Given the description of an element on the screen output the (x, y) to click on. 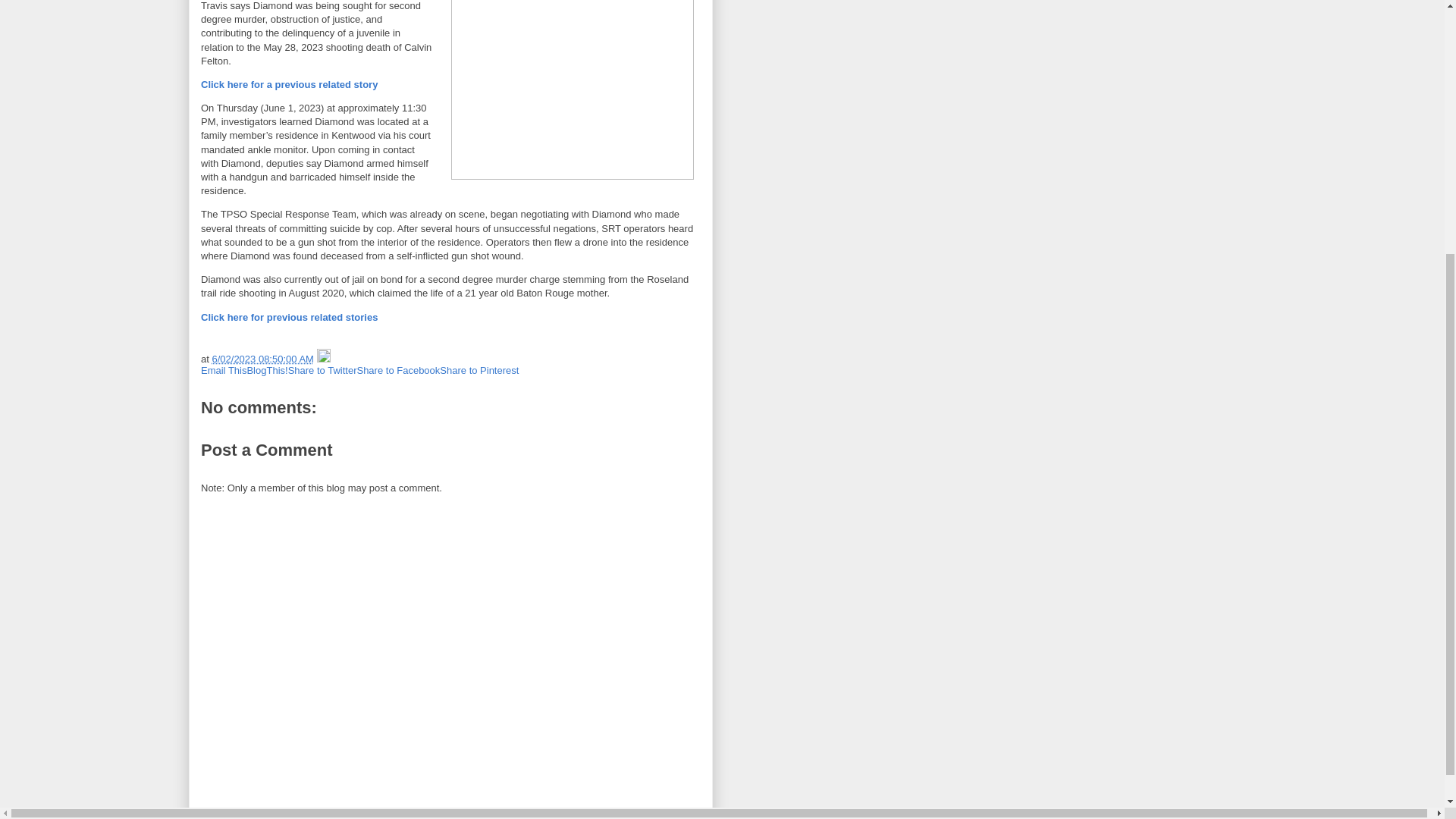
Share to Twitter (322, 369)
Share to Twitter (322, 369)
Share to Facebook (397, 369)
Click here for a previous related story (288, 84)
Email This (223, 369)
Email This (223, 369)
Share to Pinterest (478, 369)
BlogThis! (266, 369)
BlogThis! (266, 369)
Share to Pinterest (478, 369)
Click here for previous related stories (288, 317)
permanent link (262, 358)
Edit Post (323, 358)
Share to Facebook (397, 369)
